Given the description of an element on the screen output the (x, y) to click on. 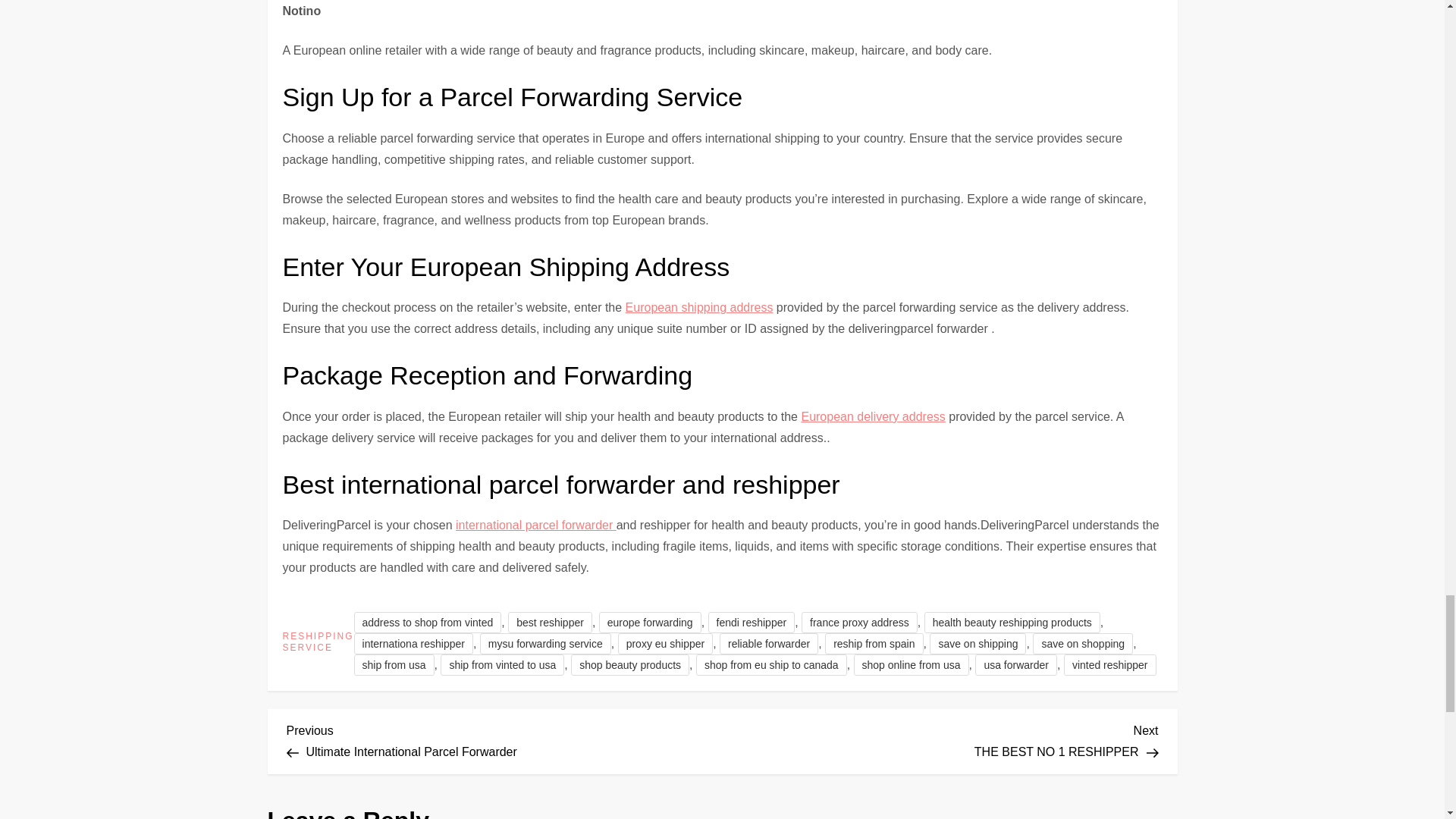
shop from eu ship to canada (771, 664)
best reshipper (550, 622)
international parcel forwarder (535, 524)
mysu forwarding service (545, 643)
ship from usa (393, 664)
shop beauty products (629, 664)
save on shopping (504, 739)
internationa reshipper (1082, 643)
address to shop from vinted (413, 643)
health beauty reshipping products (427, 622)
fendi reshipper (1012, 622)
shop online from usa (750, 622)
reliable forwarder (911, 664)
European shipping address (768, 643)
